Given the description of an element on the screen output the (x, y) to click on. 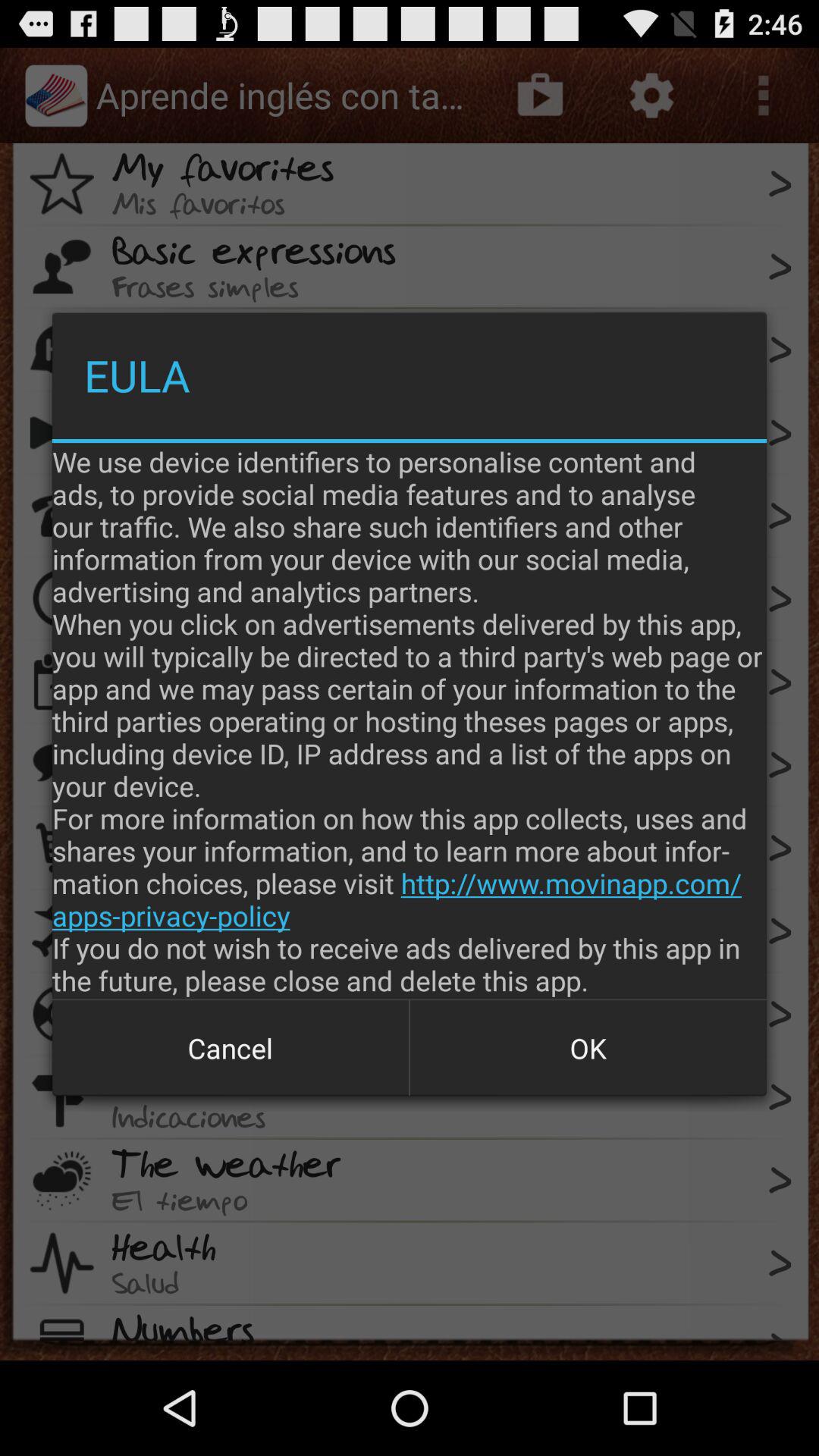
tap the item above the cancel button (409, 721)
